Given the description of an element on the screen output the (x, y) to click on. 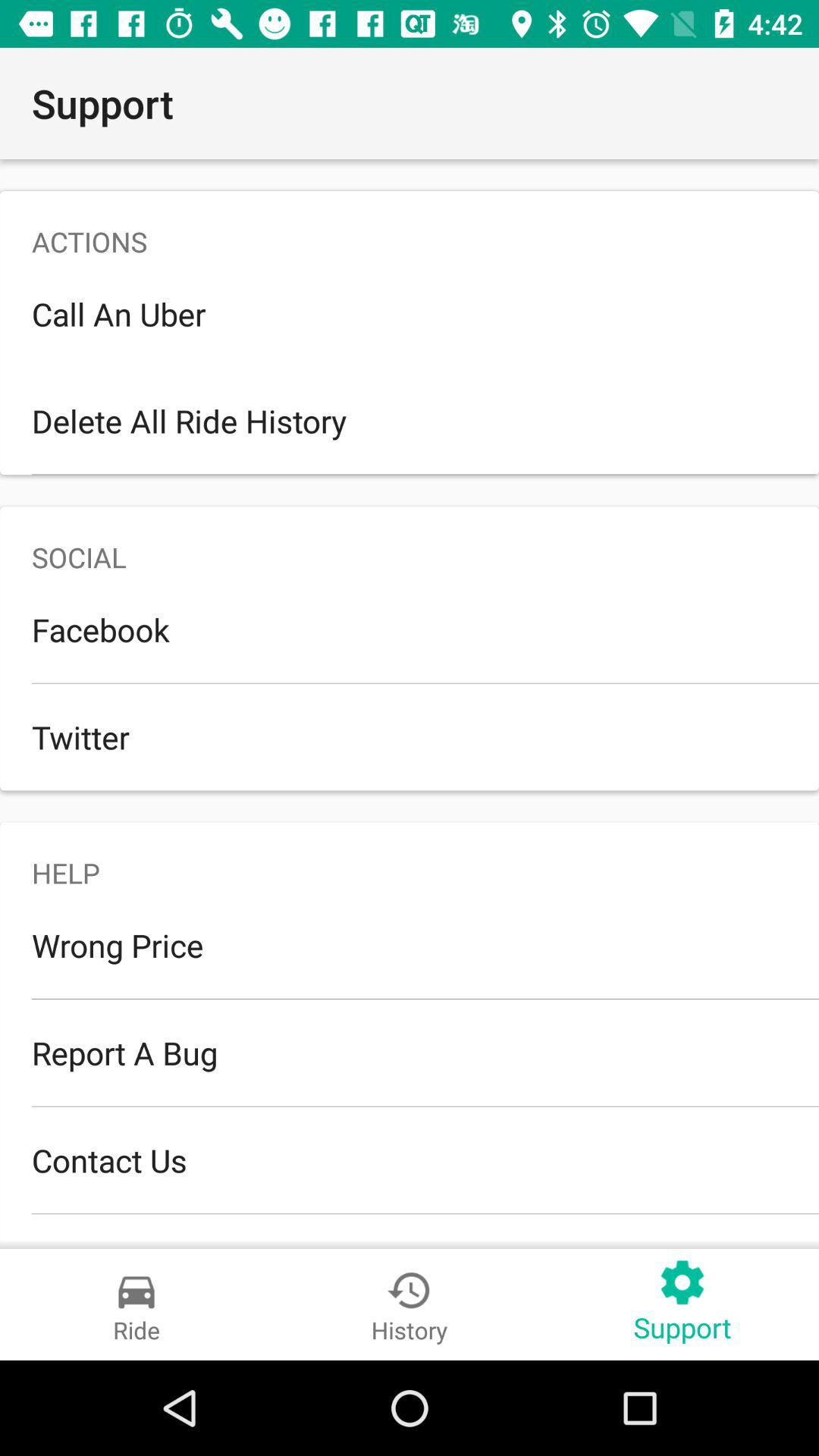
flip to the report a bug icon (409, 1052)
